Given the description of an element on the screen output the (x, y) to click on. 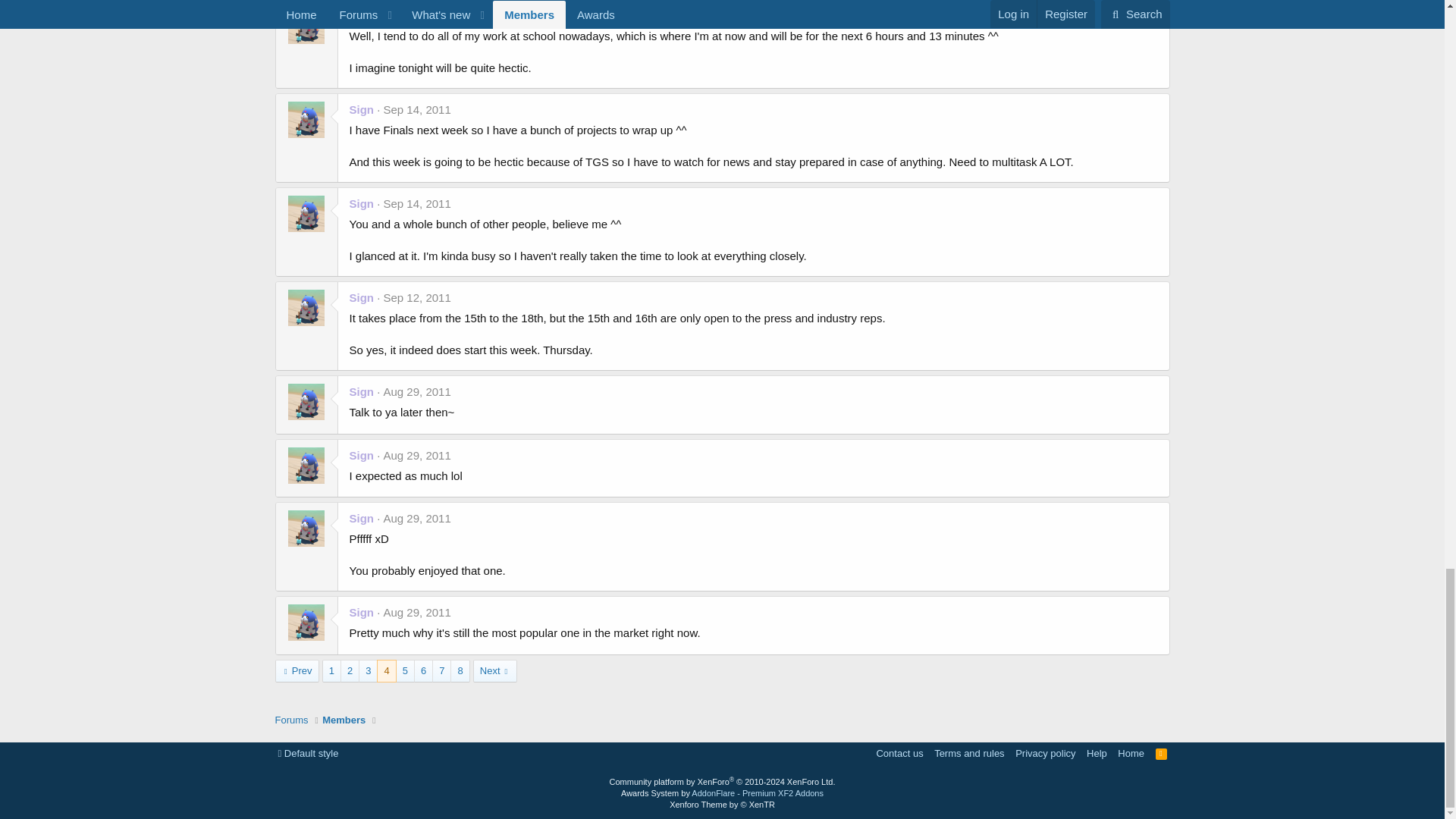
Sep 14, 2011 at 11:47 PM (417, 15)
Sep 14, 2011 at 11:38 PM (417, 109)
Sep 14, 2011 at 8:33 PM (417, 203)
